Given the description of an element on the screen output the (x, y) to click on. 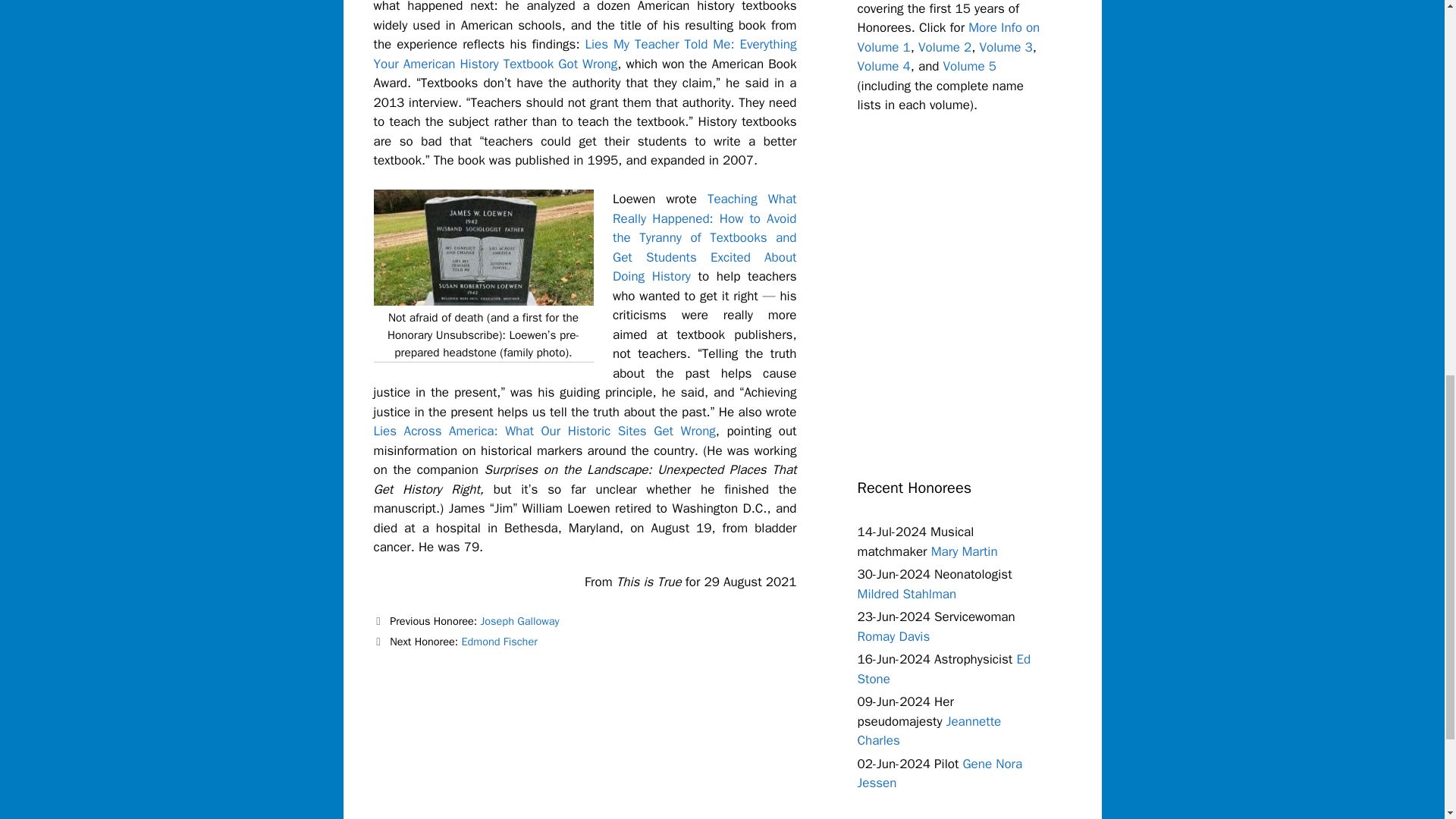
Joseph Galloway (519, 621)
Romay Davis (893, 636)
More Info on Volume 1 (948, 37)
Mary Martin (964, 551)
Gene Nora Jessen (939, 773)
Ed Stone (943, 669)
Volume 2 (944, 47)
Volume 5 (969, 66)
Jeannette Charles (929, 731)
Volume 4 (883, 66)
Mildred Stahlman (906, 593)
Advertisement (970, 293)
Volume 3 (1005, 47)
